Given the description of an element on the screen output the (x, y) to click on. 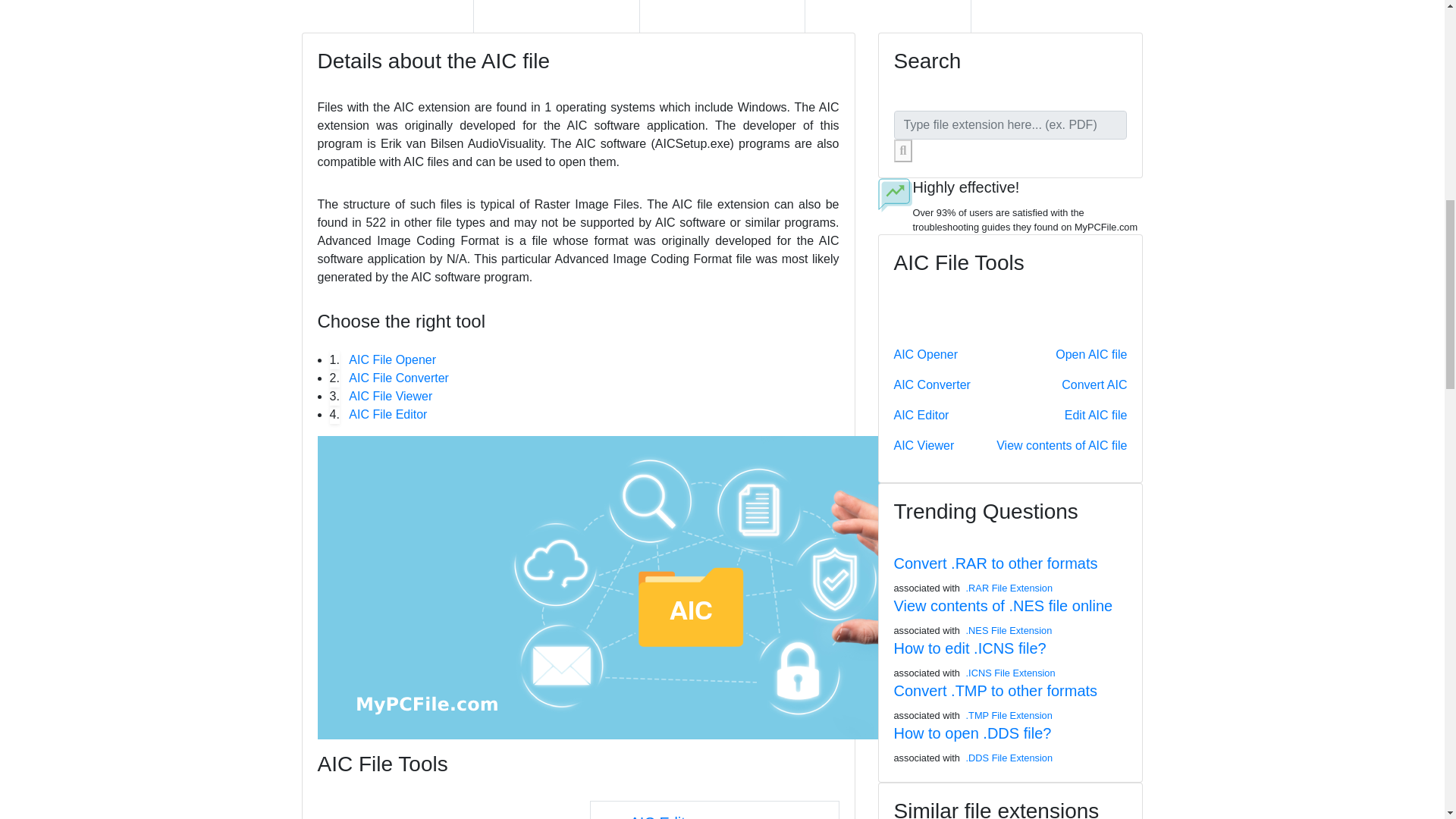
AIC File Converter (398, 378)
AIC File Editor (387, 414)
AIC File Opener (392, 360)
AIC File Viewer (390, 396)
AIC Editor (663, 816)
